Given the description of an element on the screen output the (x, y) to click on. 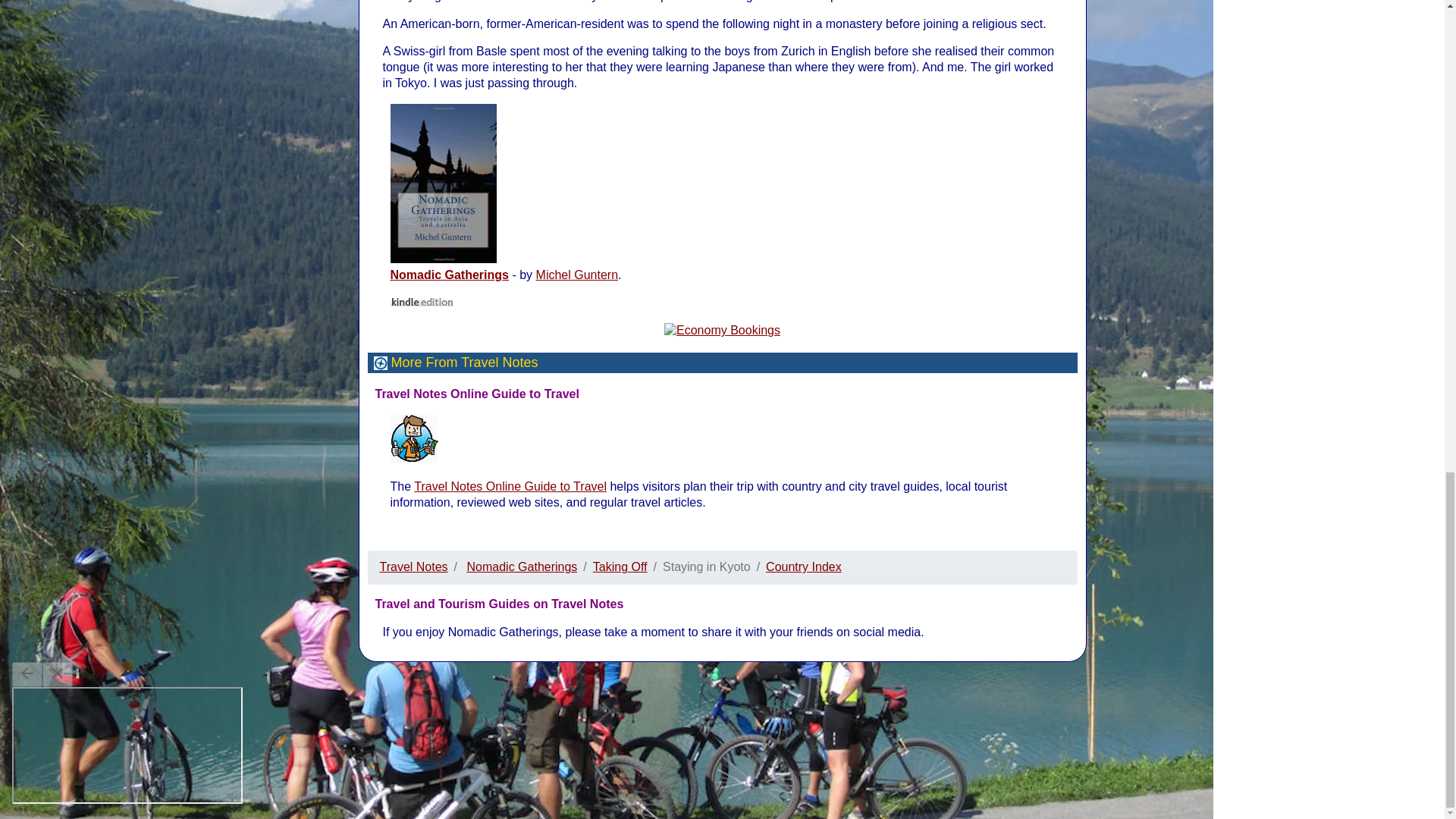
Michel Guntern (576, 274)
Nomadic Gatherings (522, 566)
Taking Off (619, 566)
Travel Notes (412, 566)
Travel Notes Online Guide to Travel (510, 486)
Nomadic Gatherings (449, 274)
Country Index (803, 566)
Join Michel on Meta-Travel (414, 438)
